Given the description of an element on the screen output the (x, y) to click on. 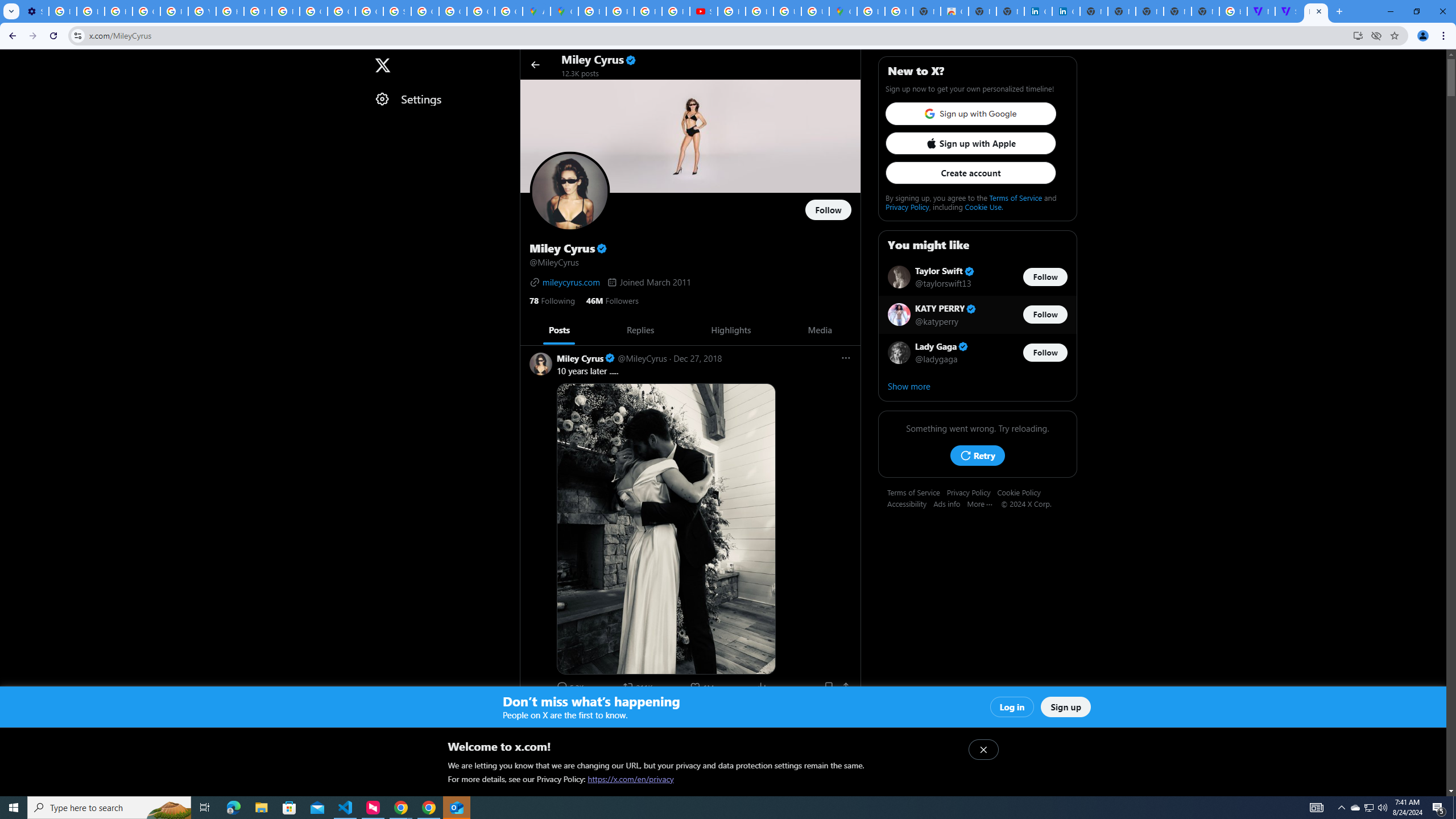
Provides details about verified accounts. (601, 247)
KATY PERRY Verified account (945, 308)
Verified account (963, 346)
Opens profile photo (569, 191)
More (983, 503)
Follow @taylorswift13 (1045, 276)
